Given the description of an element on the screen output the (x, y) to click on. 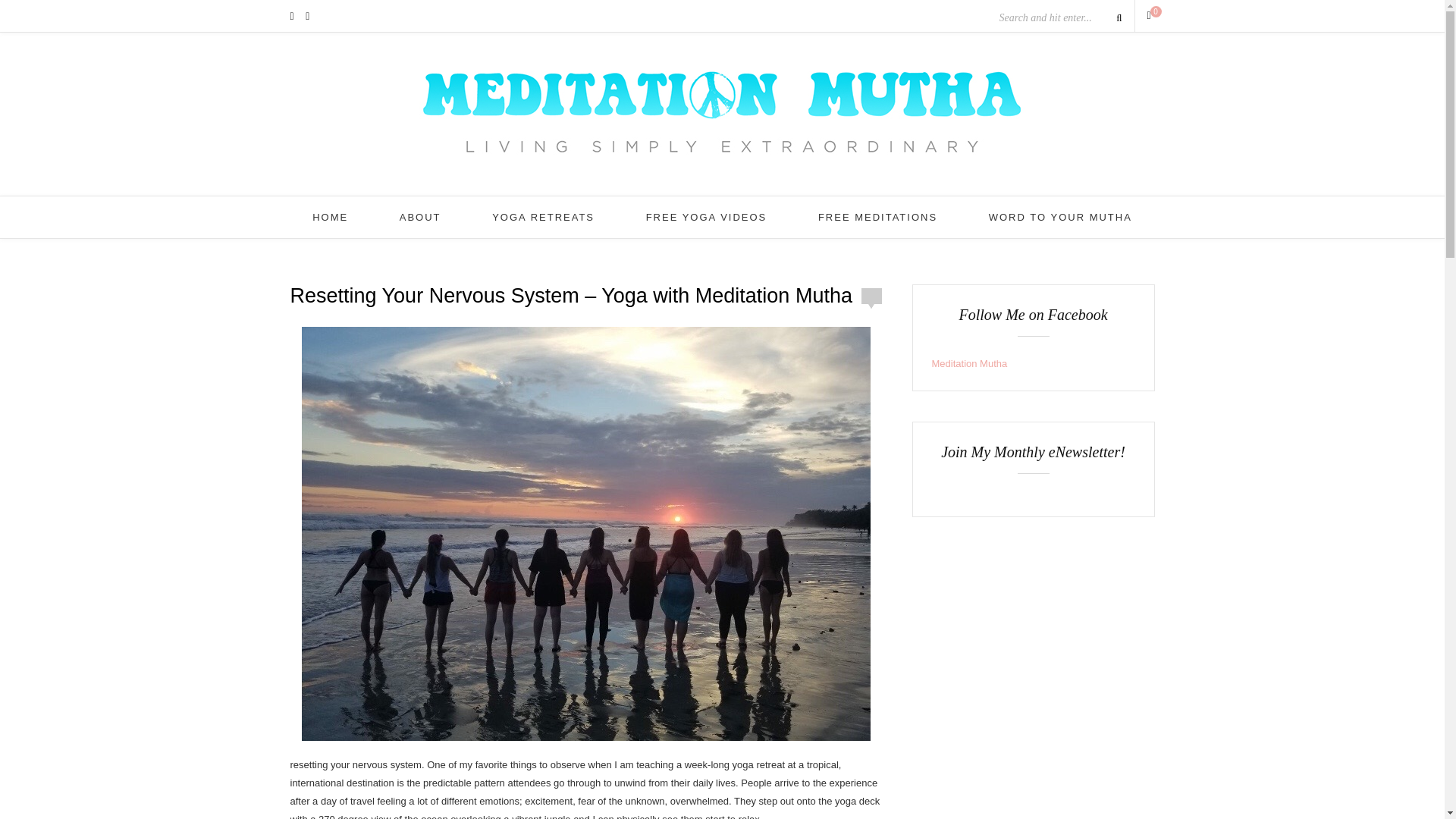
ABOUT (419, 217)
FREE YOGA VIDEOS (706, 217)
WORD TO YOUR MUTHA (1060, 217)
FREE MEDITATIONS (877, 217)
YOGA RETREATS (543, 217)
